Given the description of an element on the screen output the (x, y) to click on. 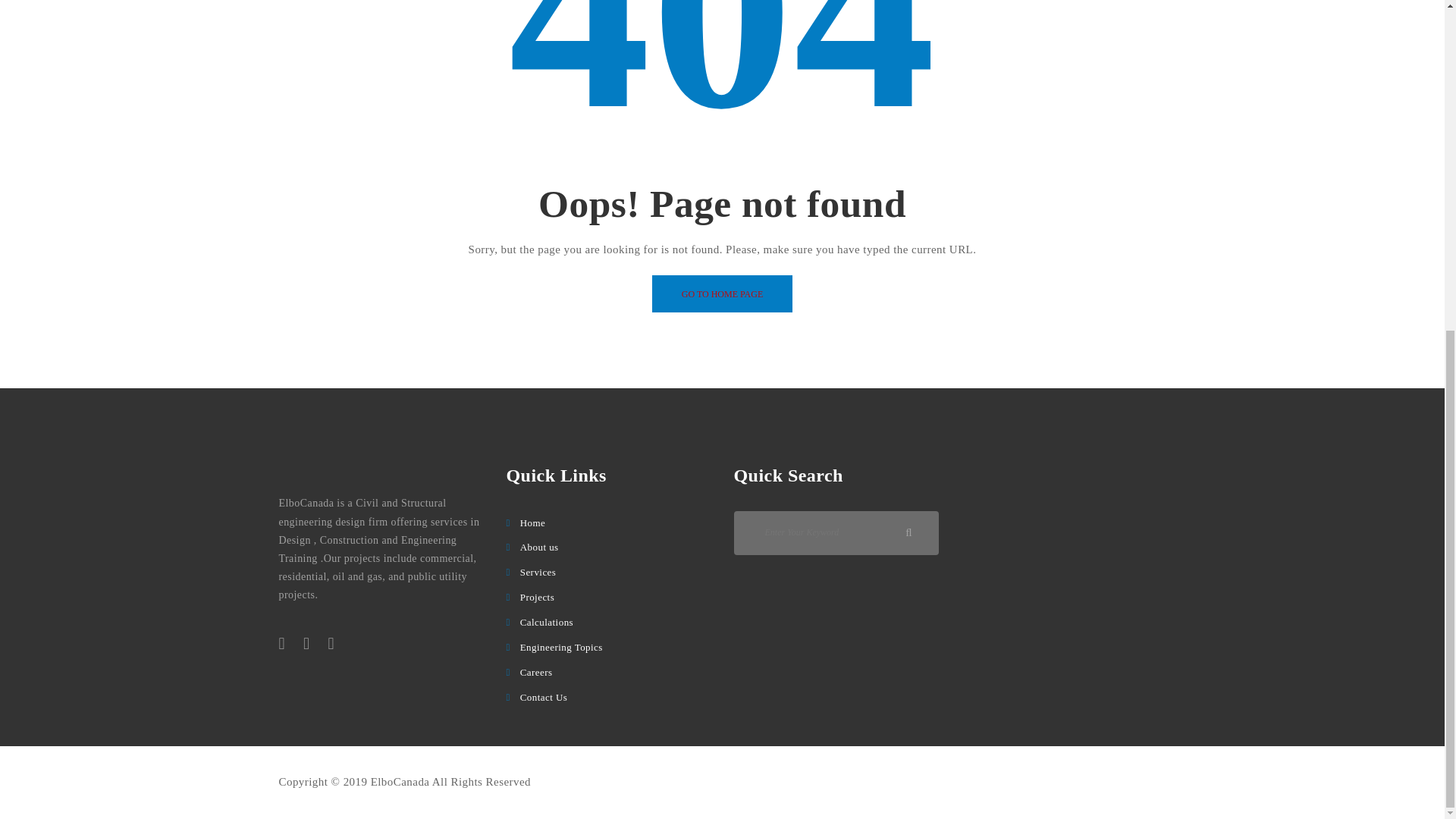
Services (537, 572)
Calculations (546, 622)
Home (532, 522)
Engineering Topics (560, 646)
Contact Us (543, 696)
Projects (536, 596)
Careers (536, 672)
About us (539, 546)
GO TO HOME PAGE (722, 293)
